Given the description of an element on the screen output the (x, y) to click on. 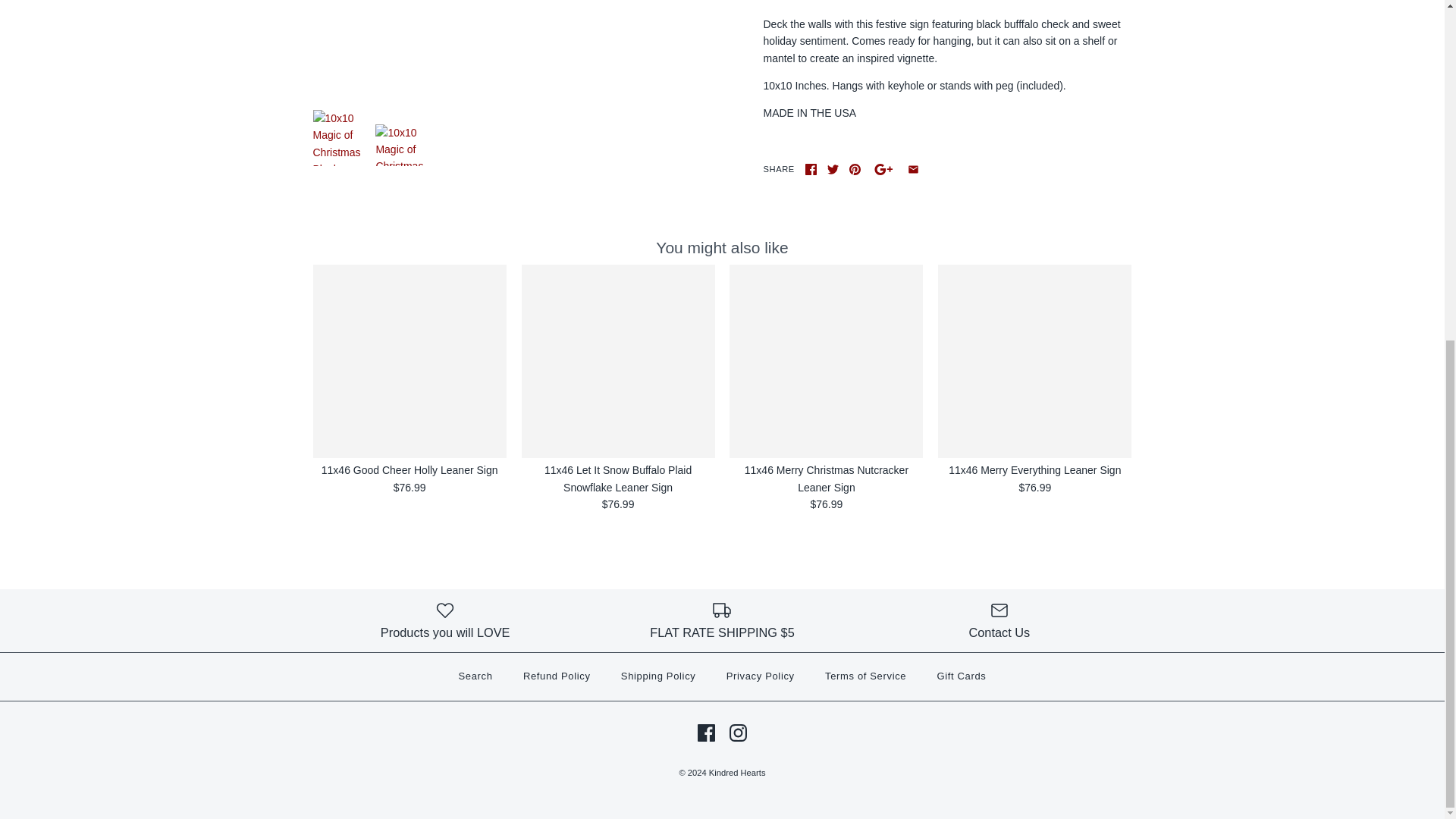
Pin the main image (854, 169)
GooglePlus (883, 169)
Share on Facebook (810, 169)
Email (912, 169)
Pinterest (854, 169)
10x10 Magic of Christmas Black Buffalo Check Sign (497, 47)
Share on Twitter (832, 169)
Facebook (810, 169)
Facebook (705, 732)
Twitter (832, 169)
